Given the description of an element on the screen output the (x, y) to click on. 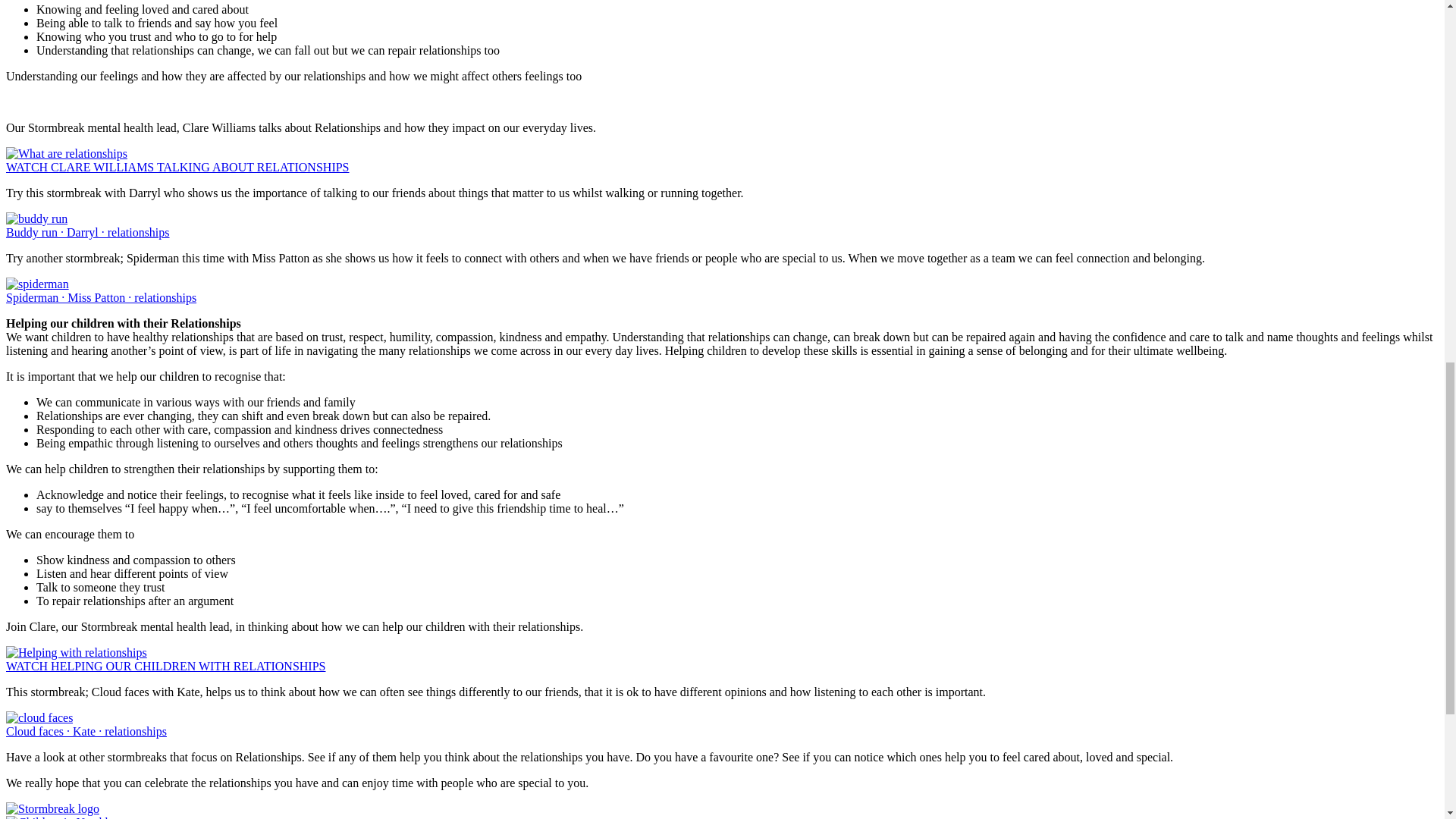
WATCH CLARE WILLIAMS TALKING ABOUT RELATIONSHIPS (177, 160)
WATCH HELPING OUR CHILDREN WITH RELATIONSHIPS (164, 659)
